Given the description of an element on the screen output the (x, y) to click on. 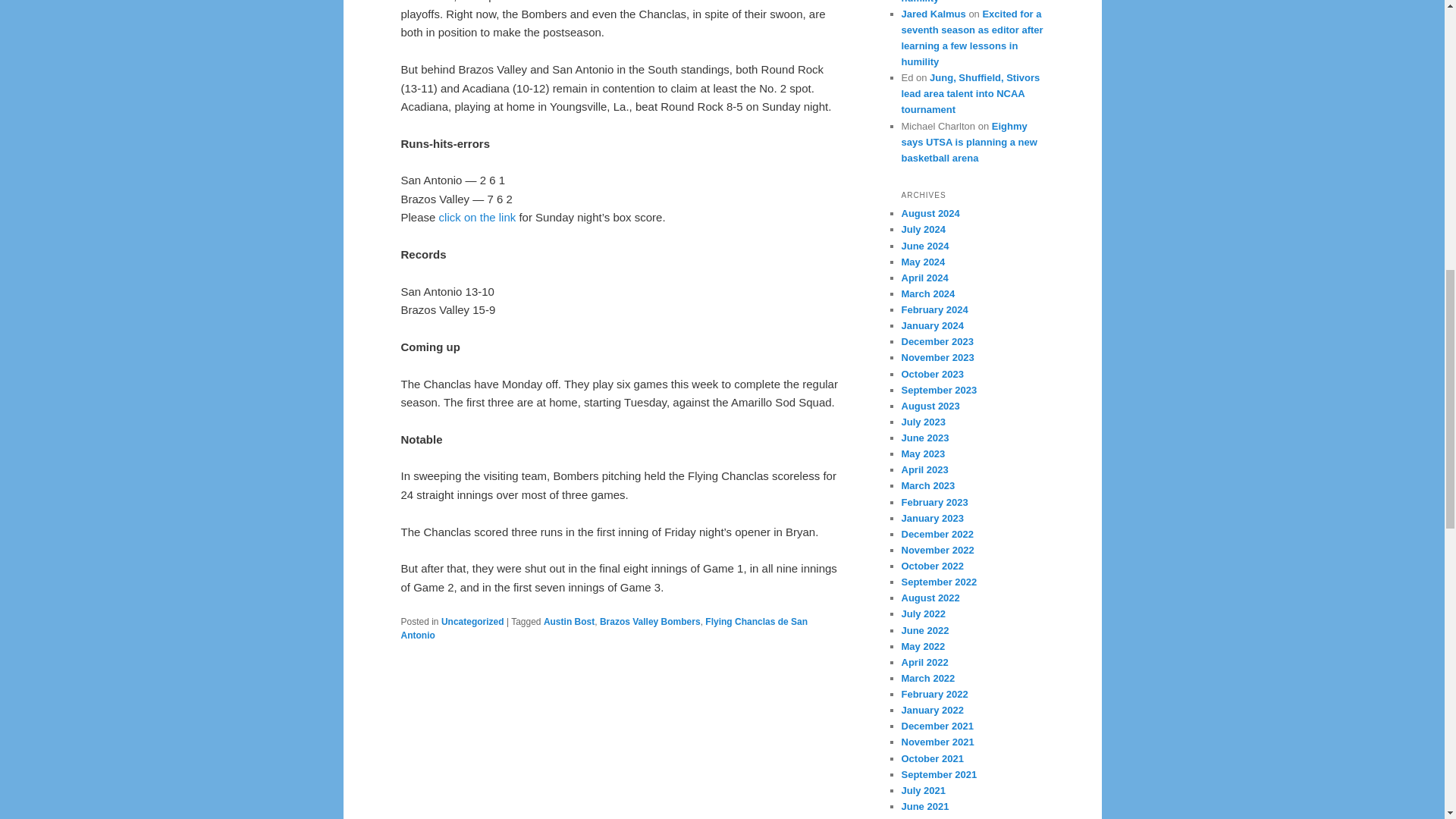
December 2023 (936, 341)
click on the link (477, 216)
March 2024 (928, 293)
August 2024 (930, 213)
February 2024 (934, 309)
September 2023 (938, 389)
October 2023 (931, 374)
Uncategorized (472, 621)
May 2024 (922, 261)
